Given the description of an element on the screen output the (x, y) to click on. 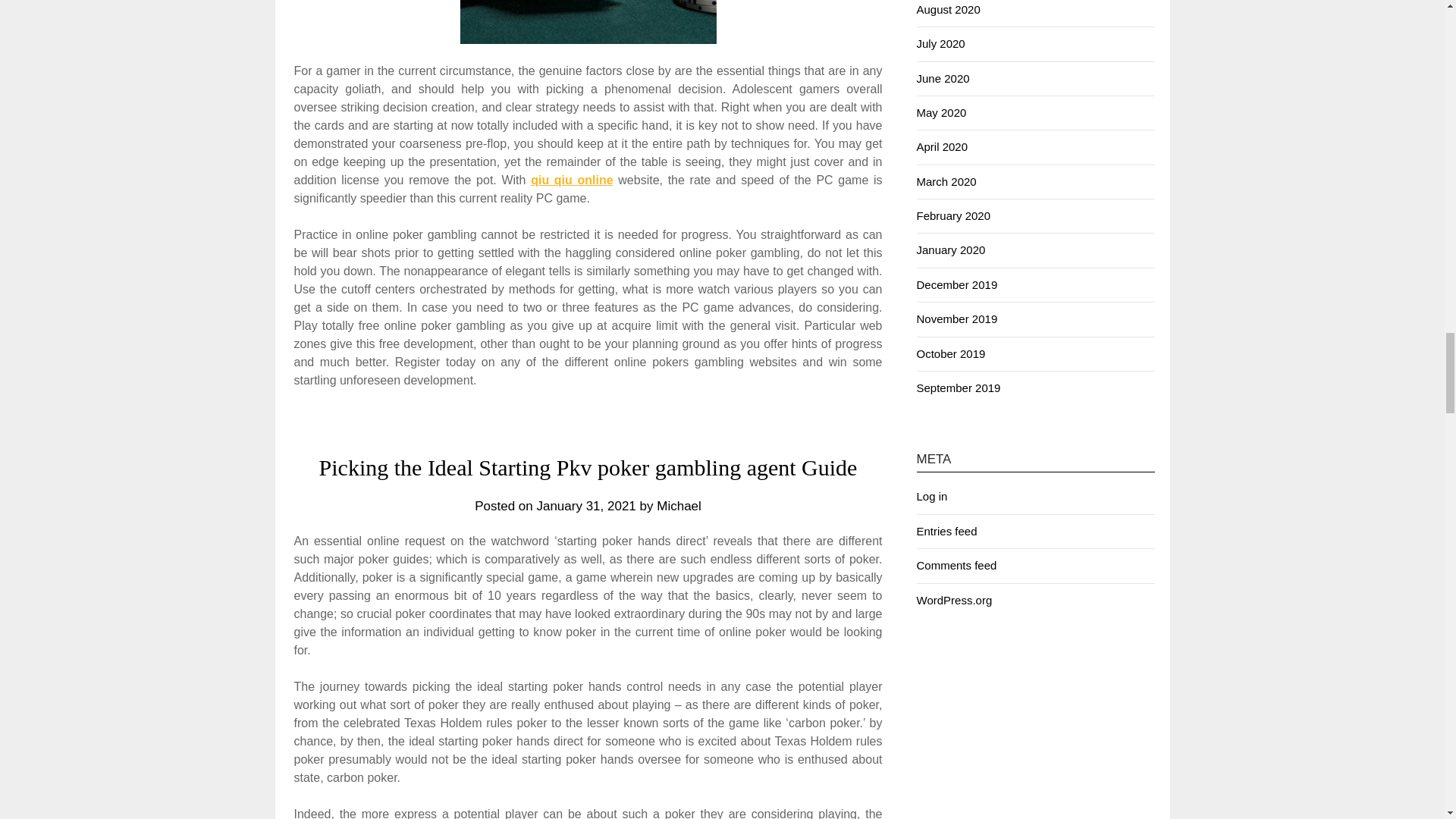
January 31, 2021 (584, 505)
Michael (678, 505)
qiu qiu online (571, 179)
Picking the Ideal Starting Pkv poker gambling agent Guide (587, 467)
